Given the description of an element on the screen output the (x, y) to click on. 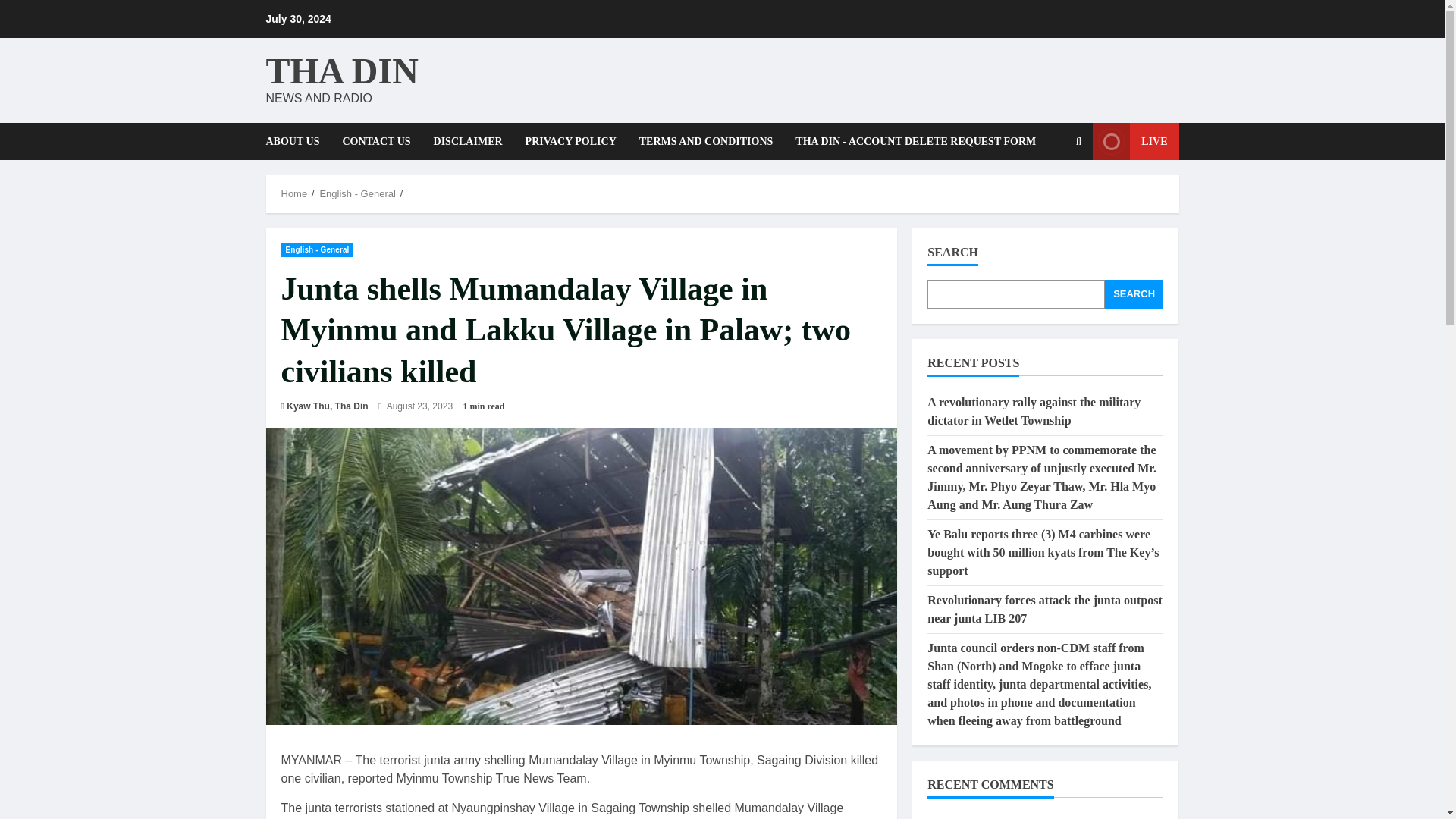
LIVE (1135, 140)
English - General (317, 249)
English - General (356, 193)
Home (294, 193)
THA DIN (340, 70)
SEARCH (1134, 294)
TERMS AND CONDITIONS (705, 140)
THA DIN - ACCOUNT DELETE REQUEST FORM (909, 140)
DISCLAIMER (467, 140)
Kyaw Thu, Tha Din (327, 406)
CONTACT US (376, 140)
ABOUT US (297, 140)
Search (1042, 193)
